Given the description of an element on the screen output the (x, y) to click on. 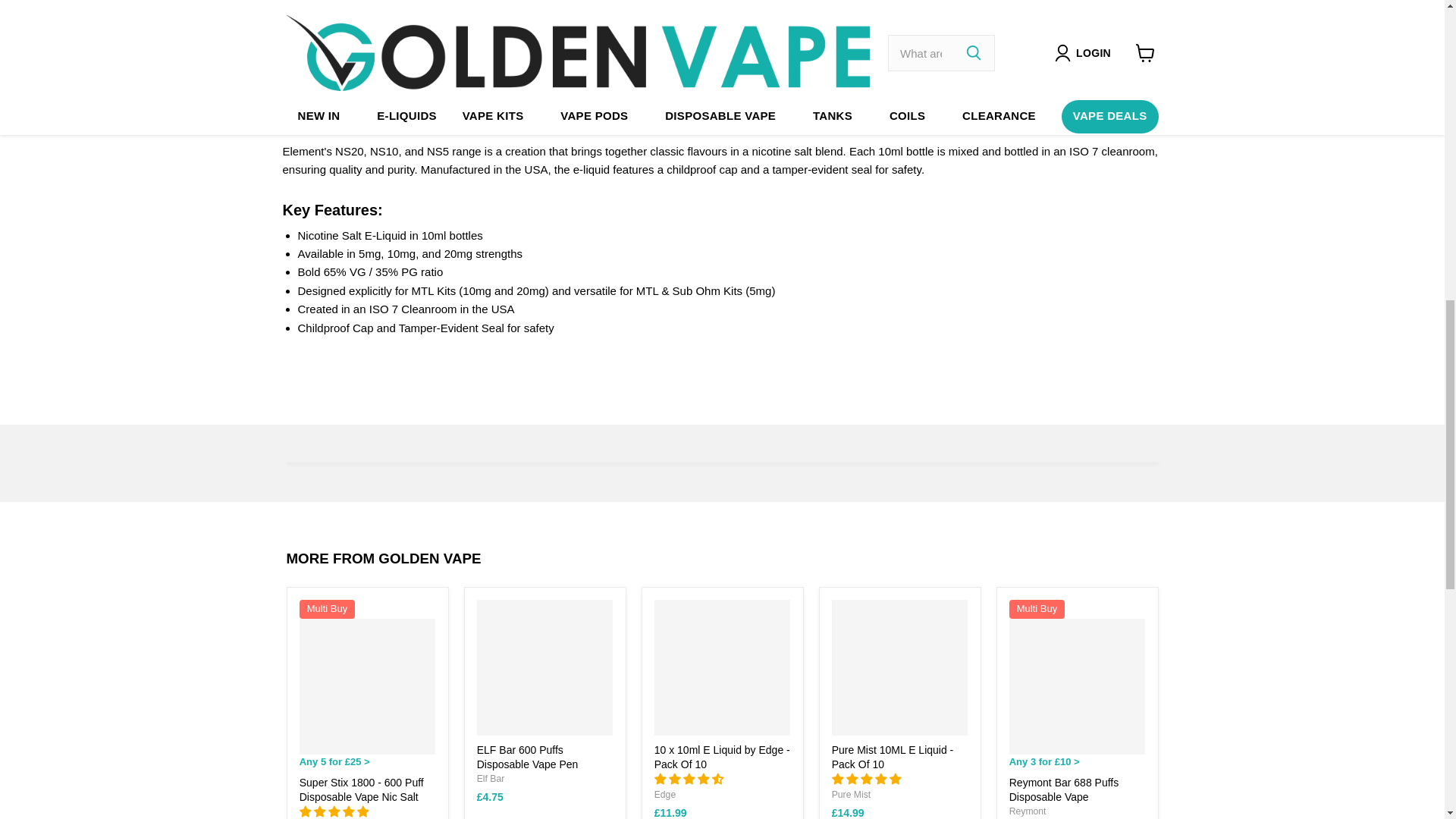
Pure Mist (850, 794)
Reymont (1027, 810)
Edge (664, 794)
Elf Bar (491, 778)
